Given the description of an element on the screen output the (x, y) to click on. 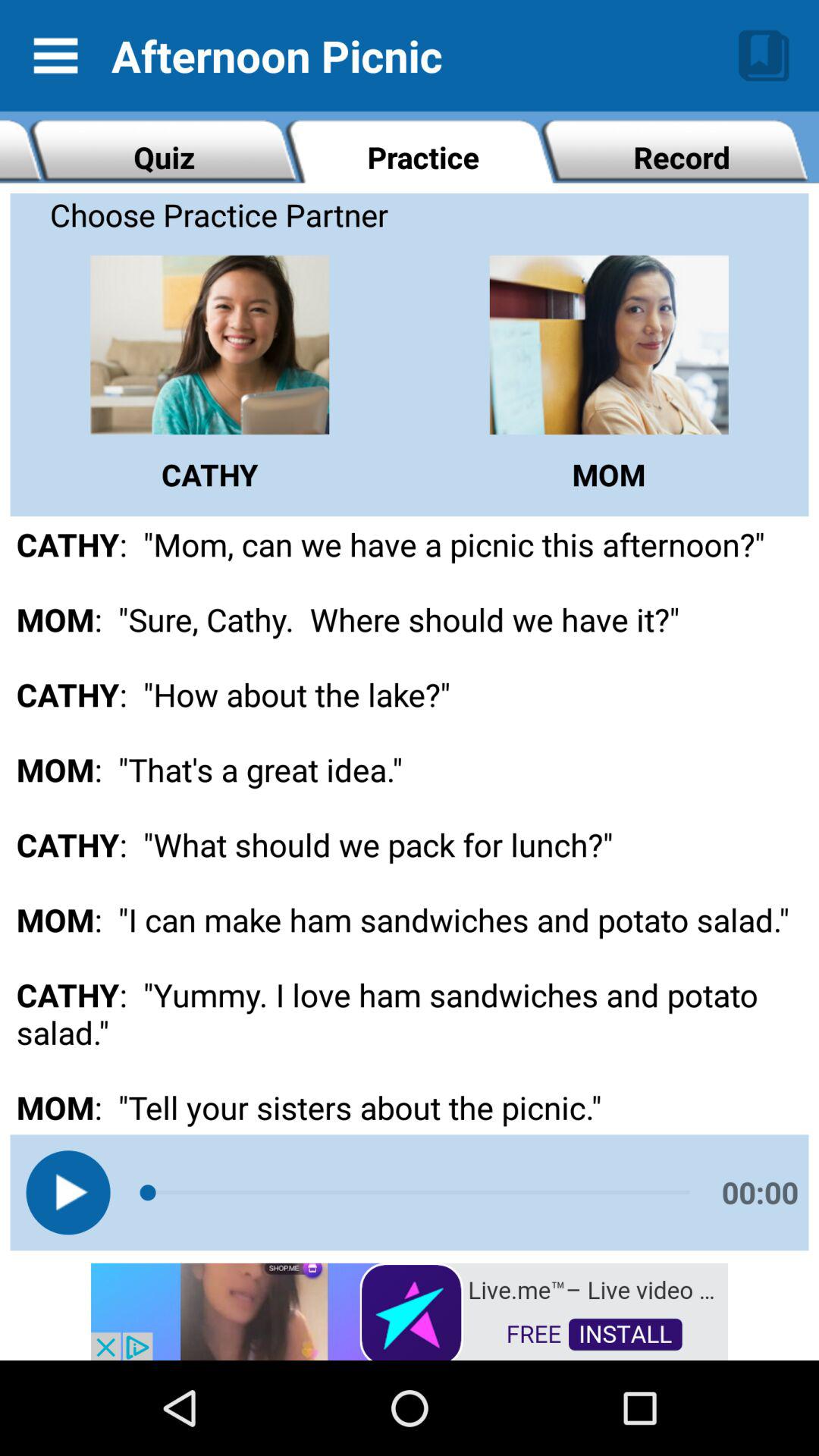
play current selection (68, 1192)
